Given the description of an element on the screen output the (x, y) to click on. 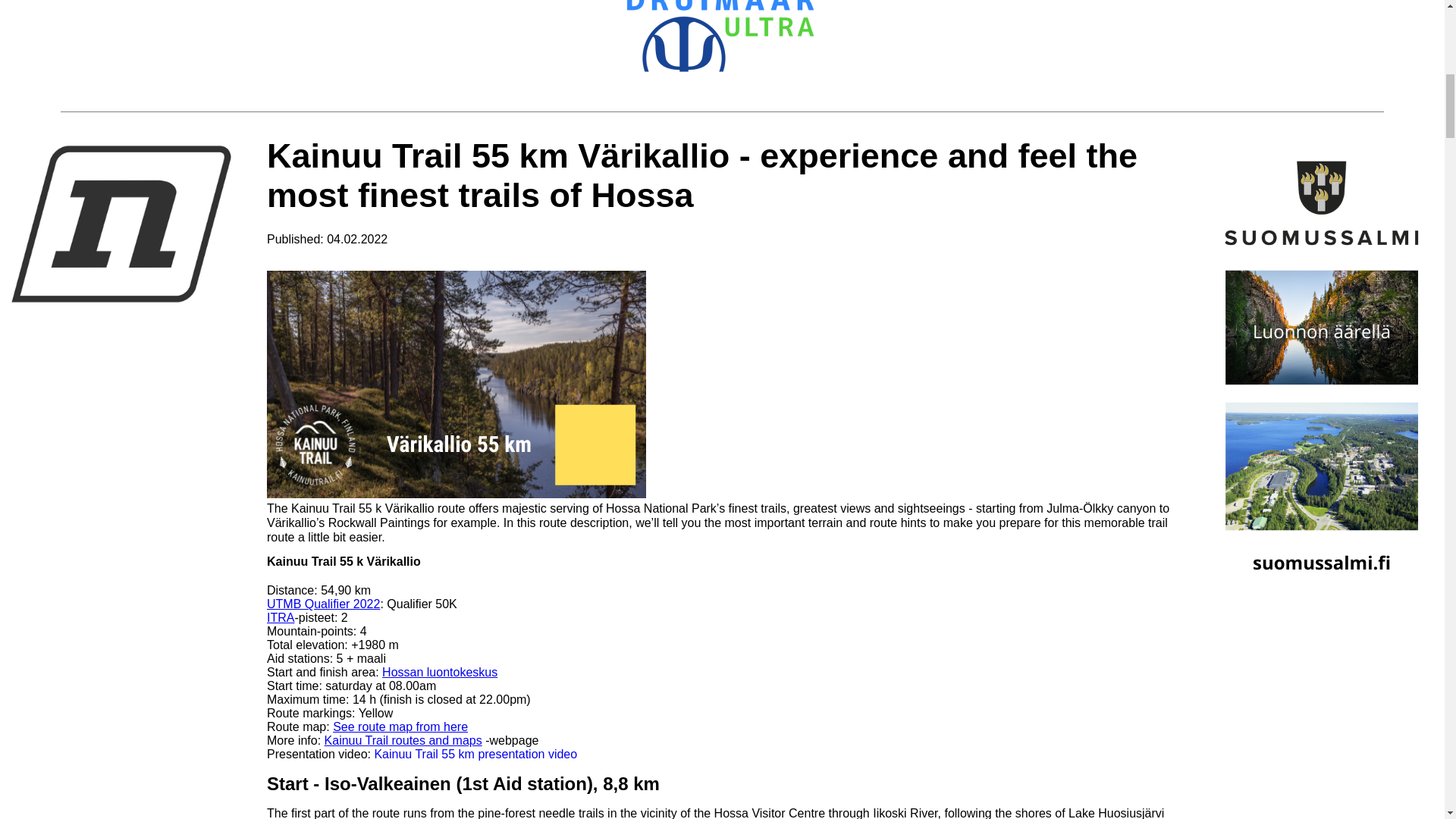
KT24-Druimaar-verkkosivu (719, 43)
